Given the description of an element on the screen output the (x, y) to click on. 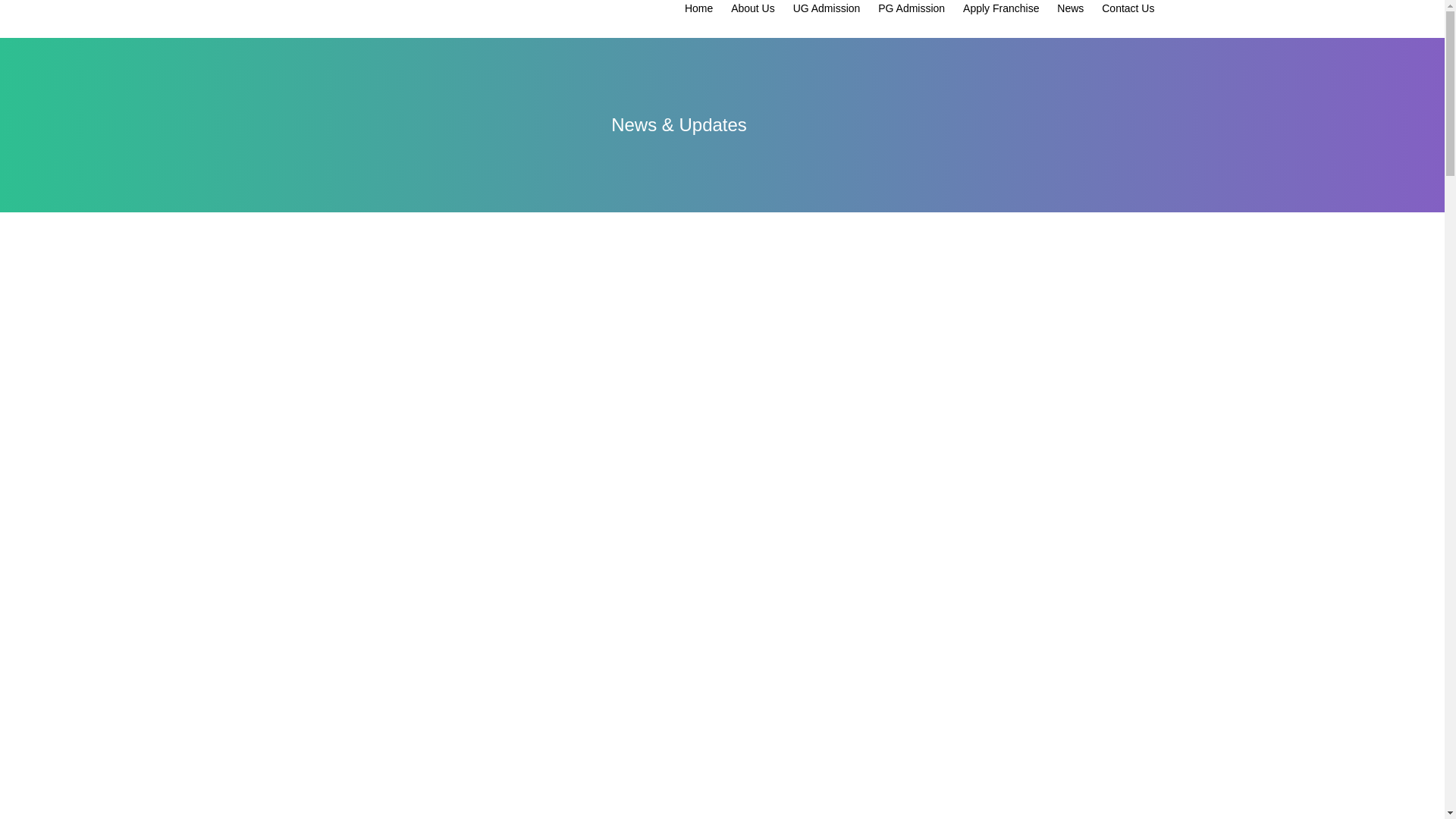
PG Admission (910, 8)
Home (698, 8)
UG Admission (826, 8)
News (1070, 8)
About Us (752, 8)
Apply Franchise (1000, 8)
Contact Us (1128, 8)
